Given the description of an element on the screen output the (x, y) to click on. 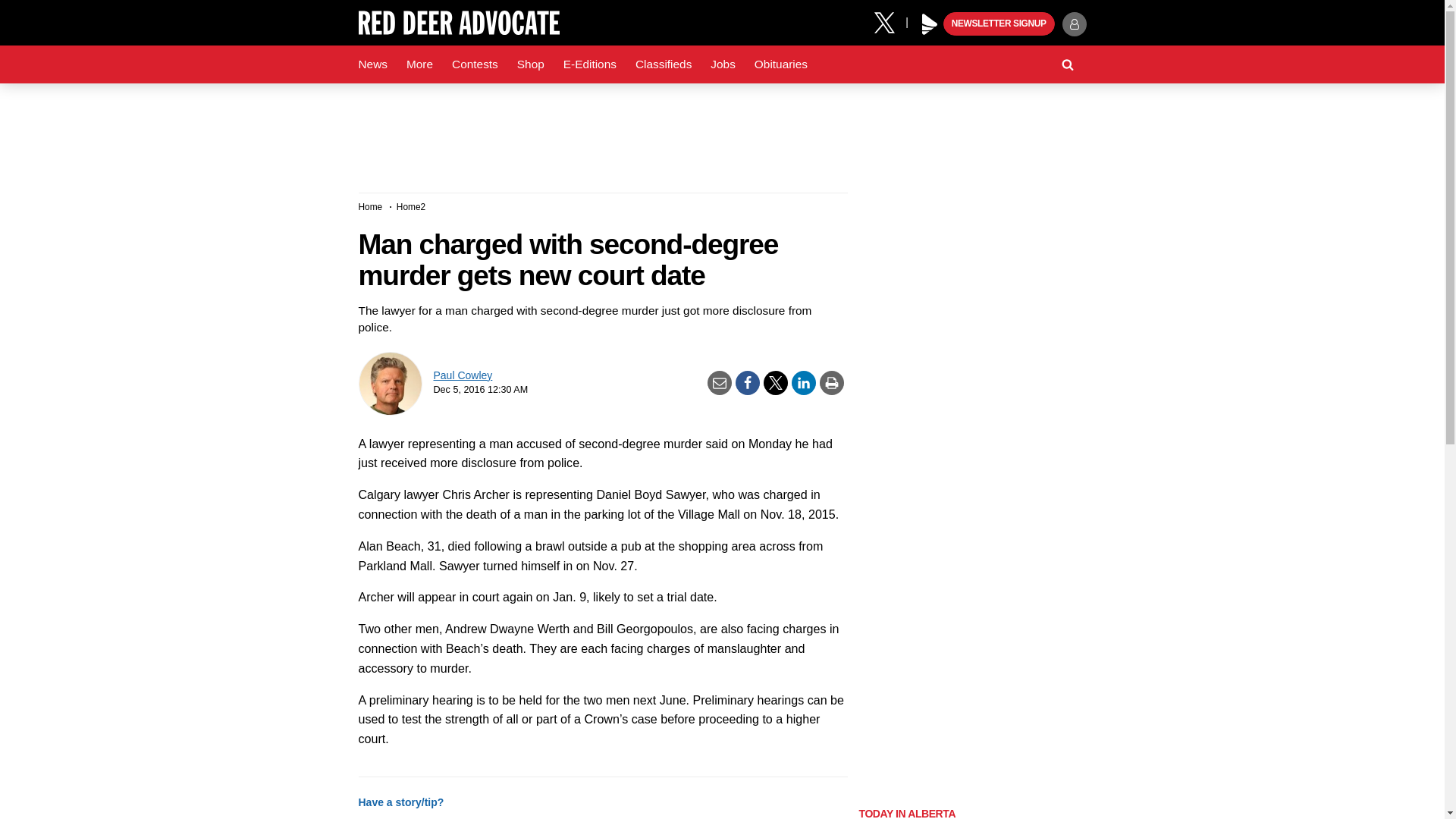
Black Press Media (929, 24)
Play (929, 24)
NEWSLETTER SIGNUP (998, 24)
News (372, 64)
X (889, 21)
